Given the description of an element on the screen output the (x, y) to click on. 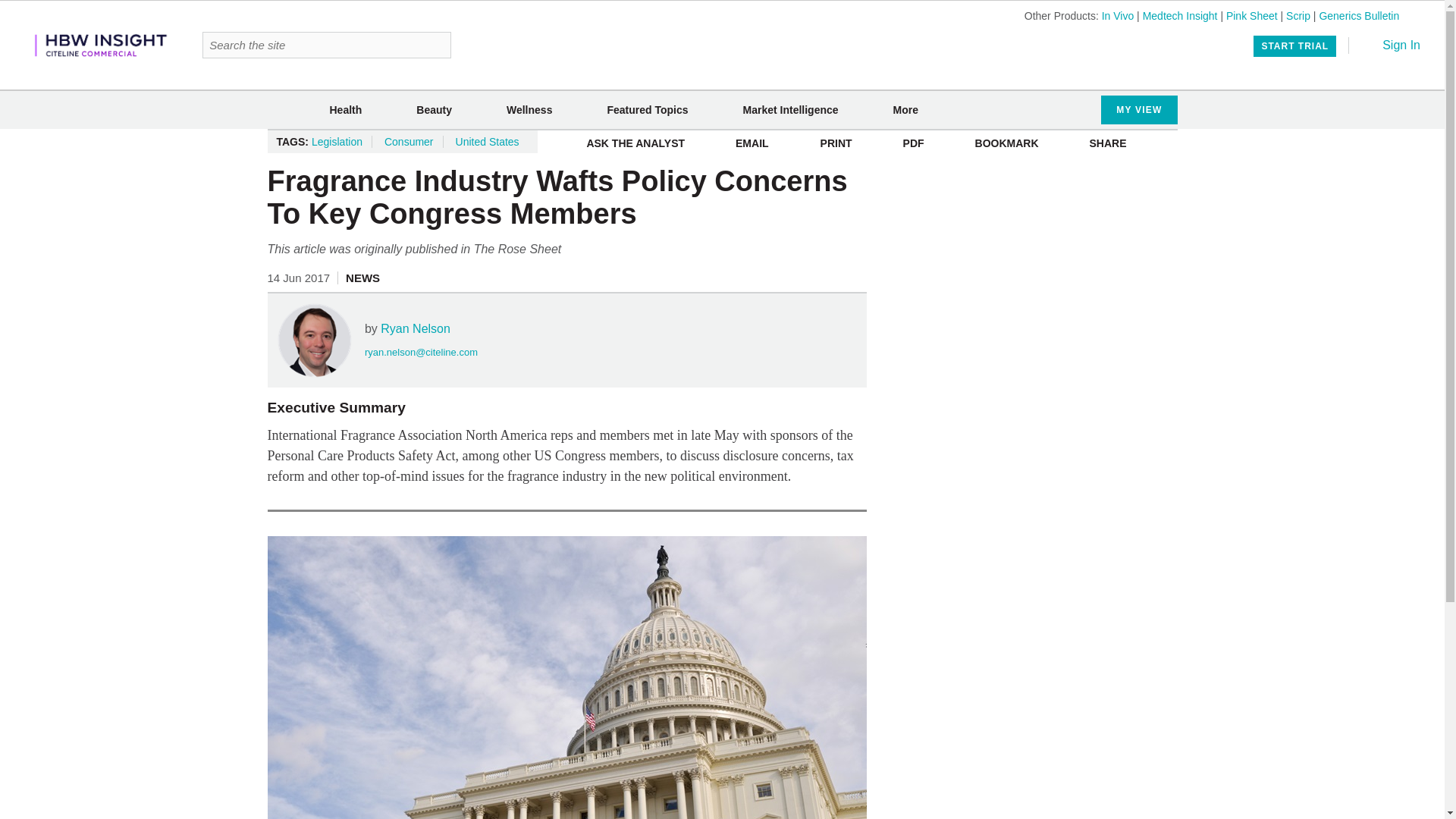
START TRIAL (1294, 46)
Medtech Insight (1179, 15)
Beauty (433, 110)
Pink Sheet (1251, 15)
Market Intelligence (790, 110)
Scrip (1297, 15)
Generics Bulletin (1359, 15)
Health (345, 110)
Wellness (528, 110)
Sign In (1391, 44)
